Given the description of an element on the screen output the (x, y) to click on. 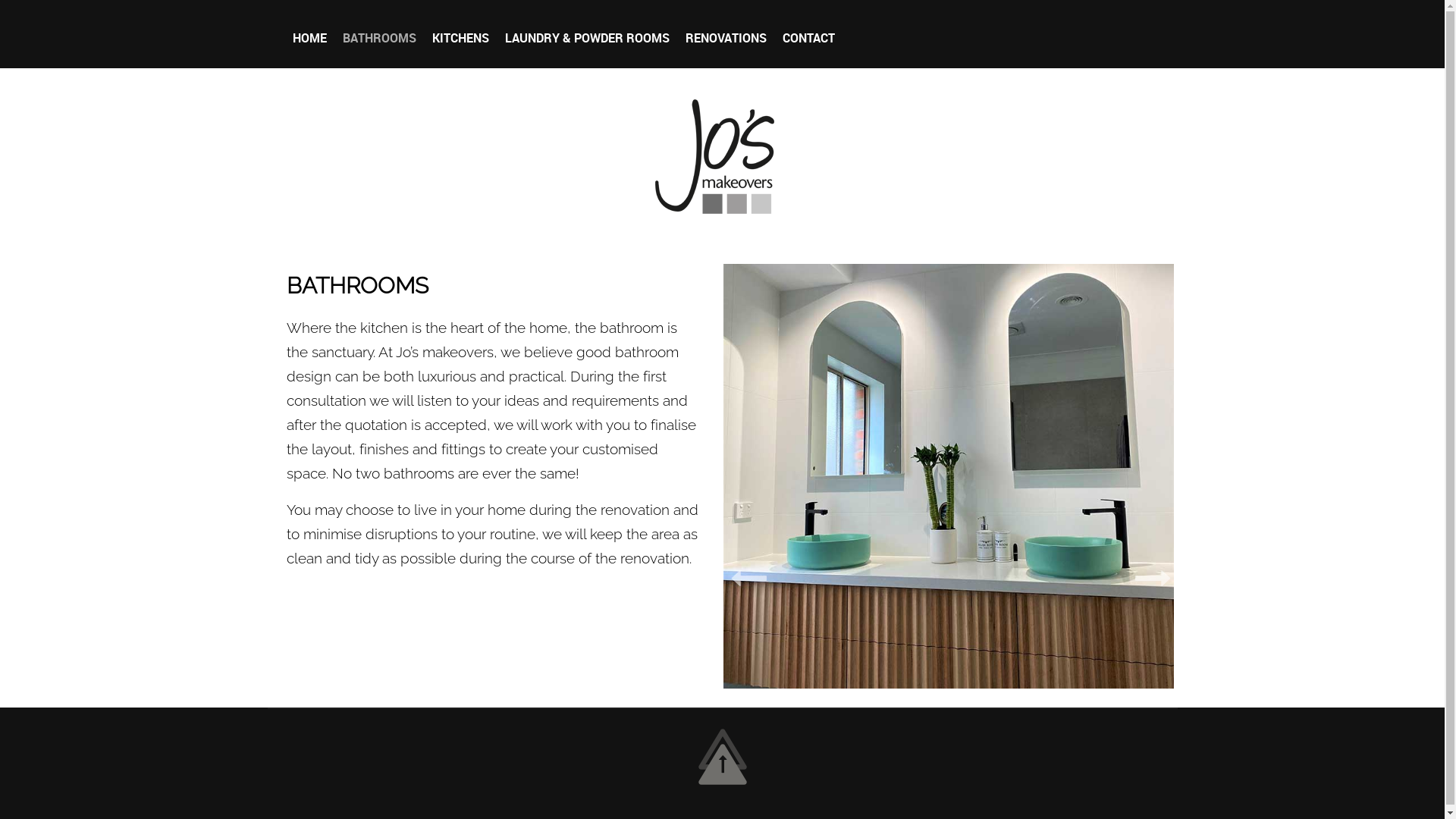
KITCHENS Element type: text (460, 38)
LAUNDRY & POWDER ROOMS Element type: text (587, 38)
BATHROOMS Element type: text (379, 38)
HOME Element type: text (309, 38)
CONTACT Element type: text (808, 38)
RENOVATIONS Element type: text (725, 38)
